Given the description of an element on the screen output the (x, y) to click on. 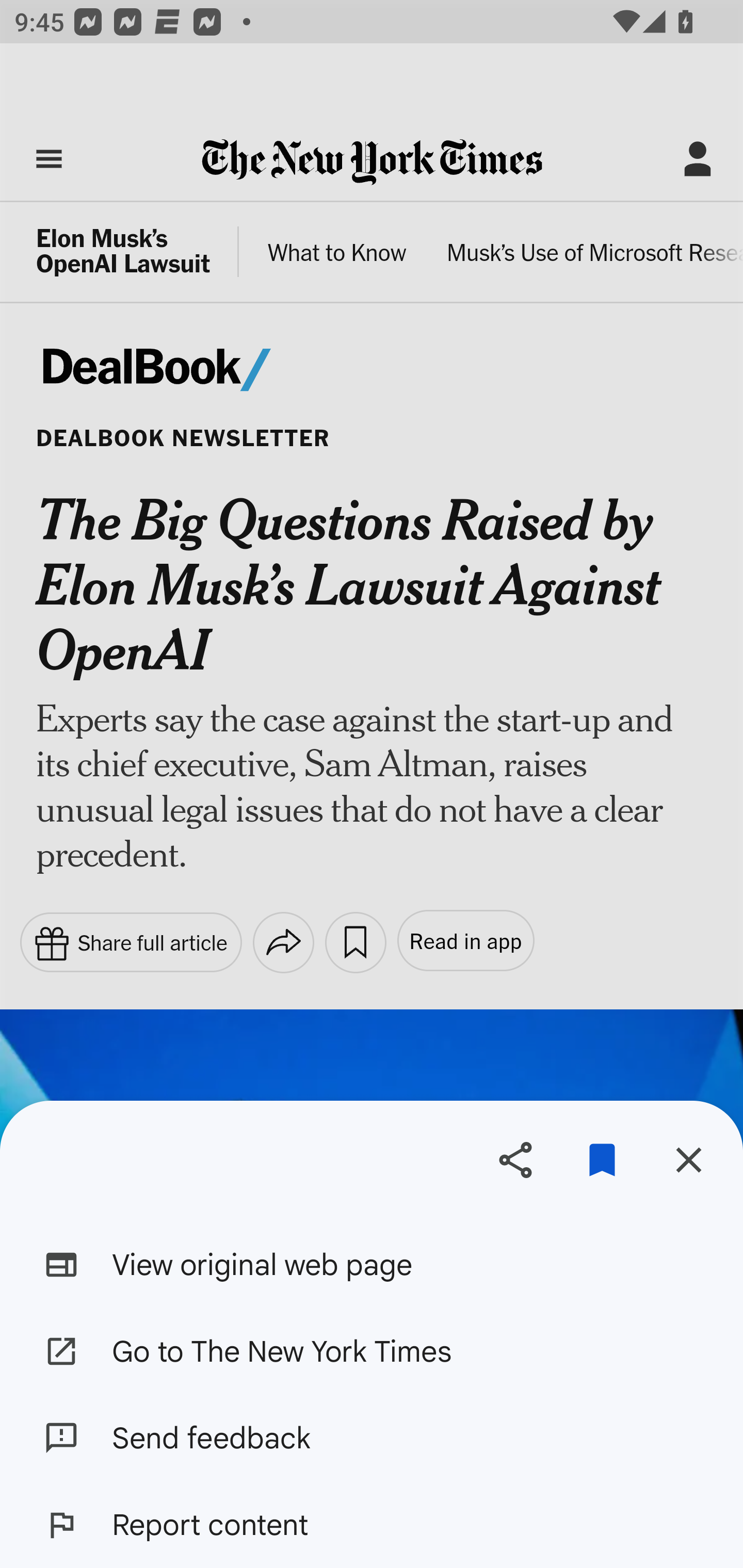
Share (514, 1159)
Remove from saved stories (601, 1159)
Close (688, 1159)
View original web page (371, 1264)
Go to The New York Times (371, 1350)
Send feedback (371, 1437)
Report content (371, 1524)
